Given the description of an element on the screen output the (x, y) to click on. 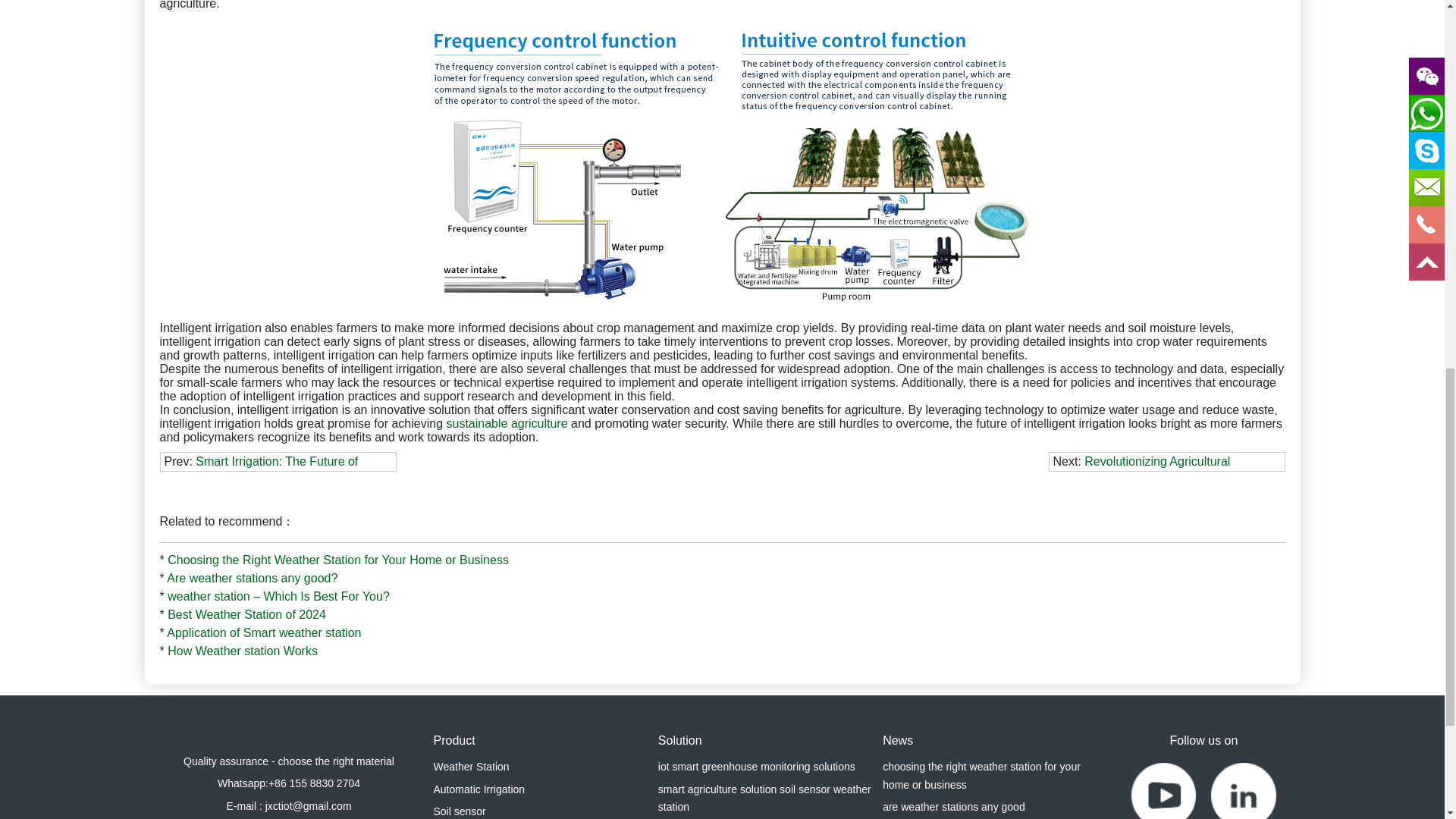
How Weather station Works (242, 650)
Application of Smart weather station (264, 632)
Are weather stations any good? (252, 577)
Choosing the Right Weather Station for Your Home or Business (337, 559)
Best Weather Station of 2024 (246, 614)
